Given the description of an element on the screen output the (x, y) to click on. 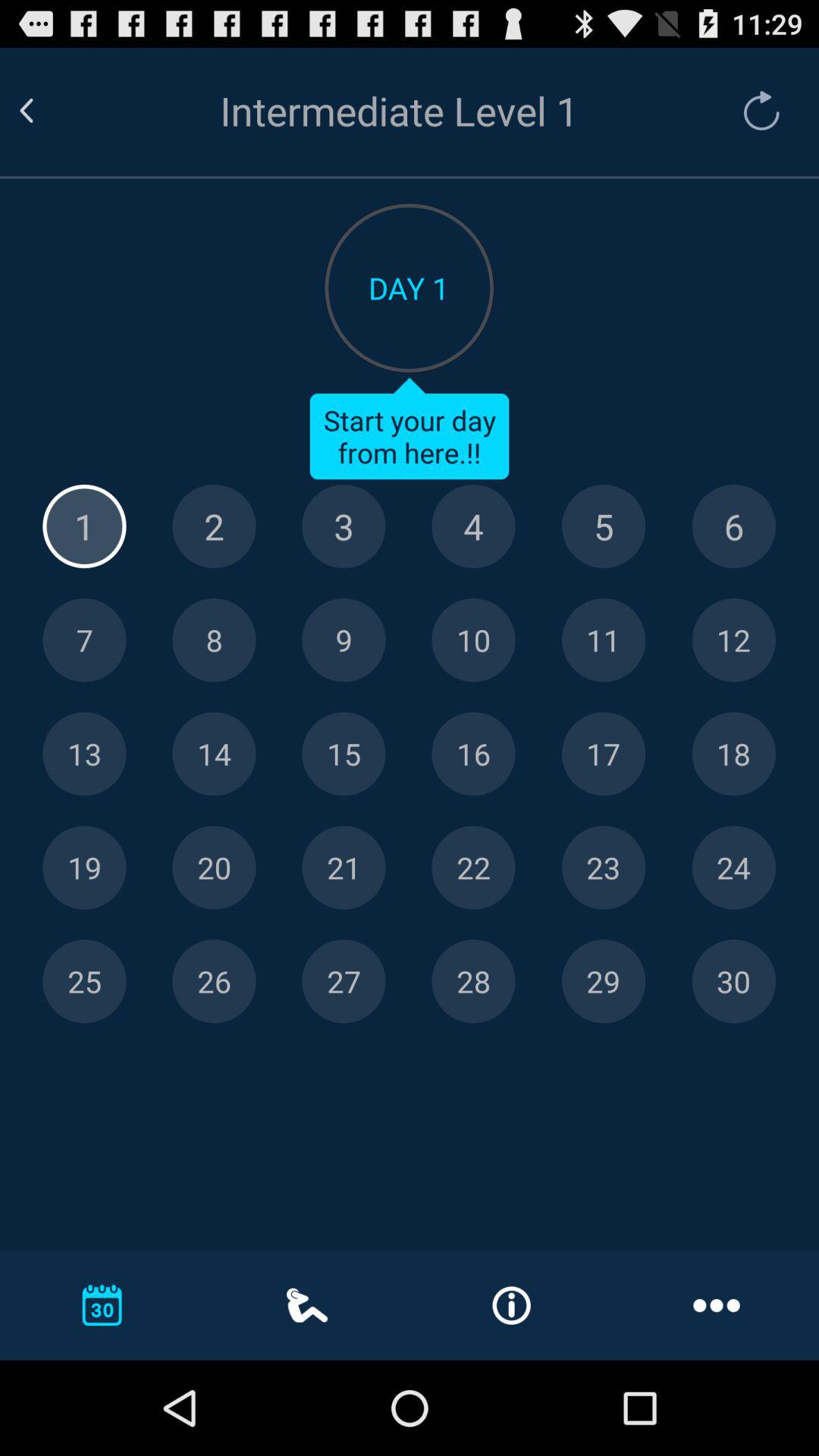
day 22 (473, 867)
